Given the description of an element on the screen output the (x, y) to click on. 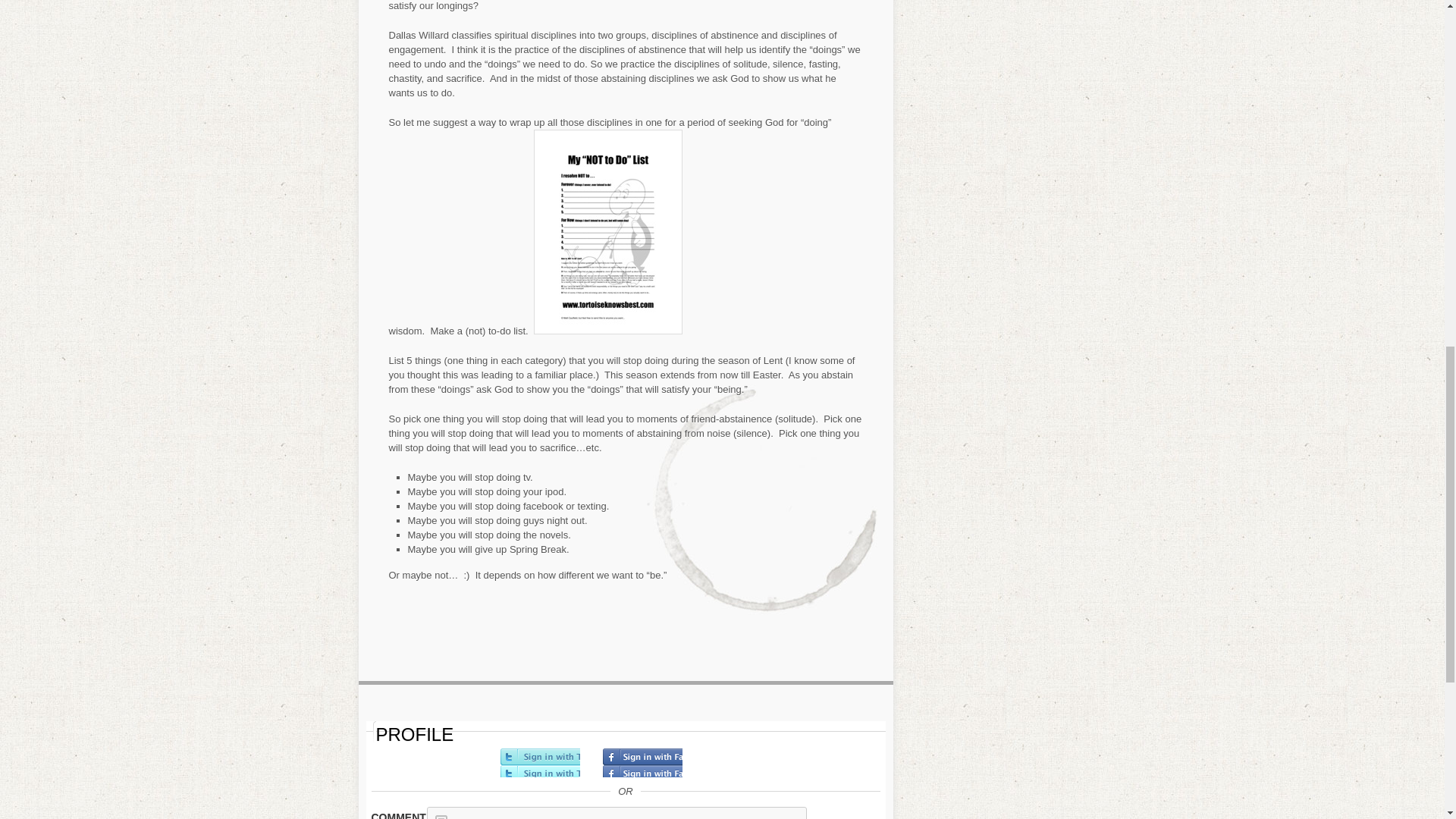
Sign in with Twitter (539, 762)
Sign in with Facebook (642, 762)
